Given the description of an element on the screen output the (x, y) to click on. 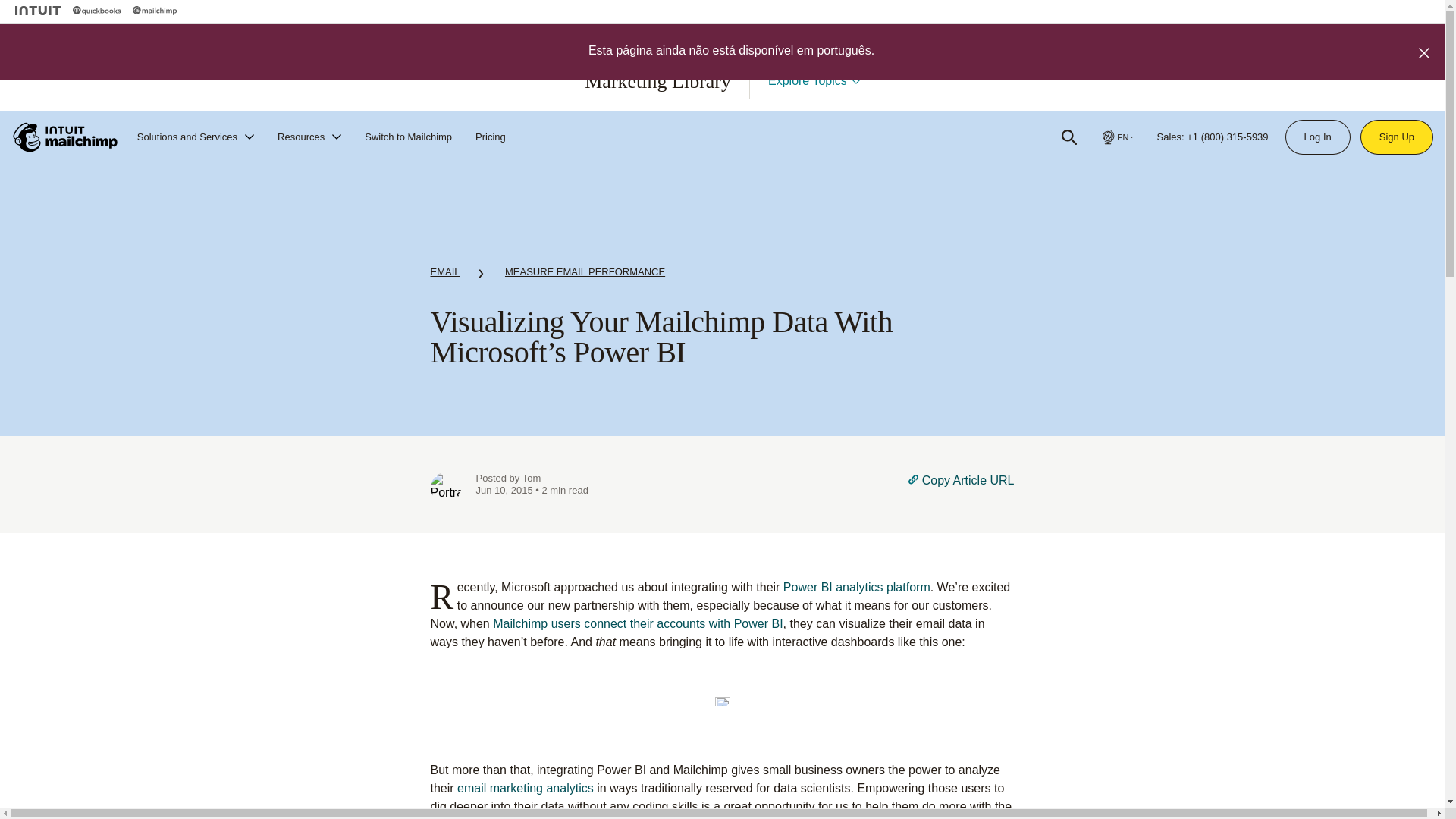
Start today (868, 96)
Pricing (490, 137)
Sign Up (1396, 136)
Search (1069, 136)
Copy URL to clipboard. (960, 487)
Switch to Mailchimp (408, 137)
Explore Topics (814, 80)
Solutions and Services (195, 137)
Marketing Library (657, 81)
Resources (308, 137)
Log In (1317, 136)
